Given the description of an element on the screen output the (x, y) to click on. 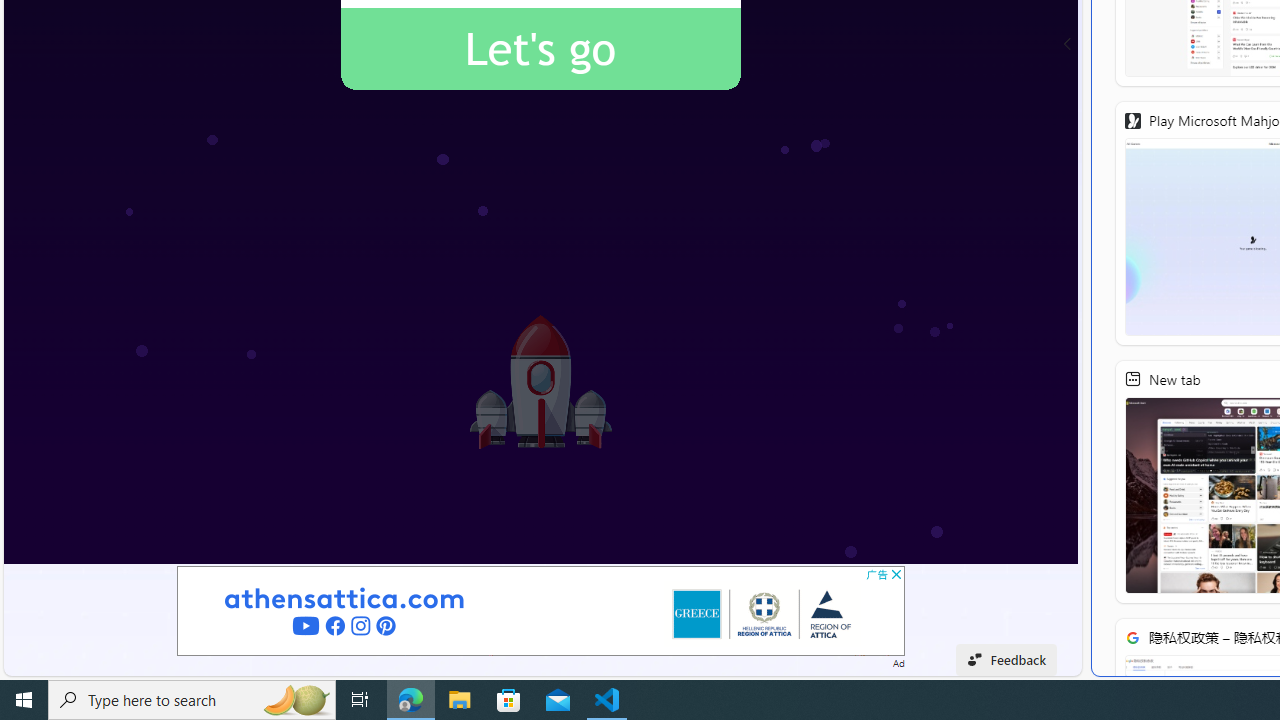
Advertisement (540, 610)
Advertisement (540, 610)
Class: control (1067, 43)
AutomationID: cbb (896, 574)
